Given the description of an element on the screen output the (x, y) to click on. 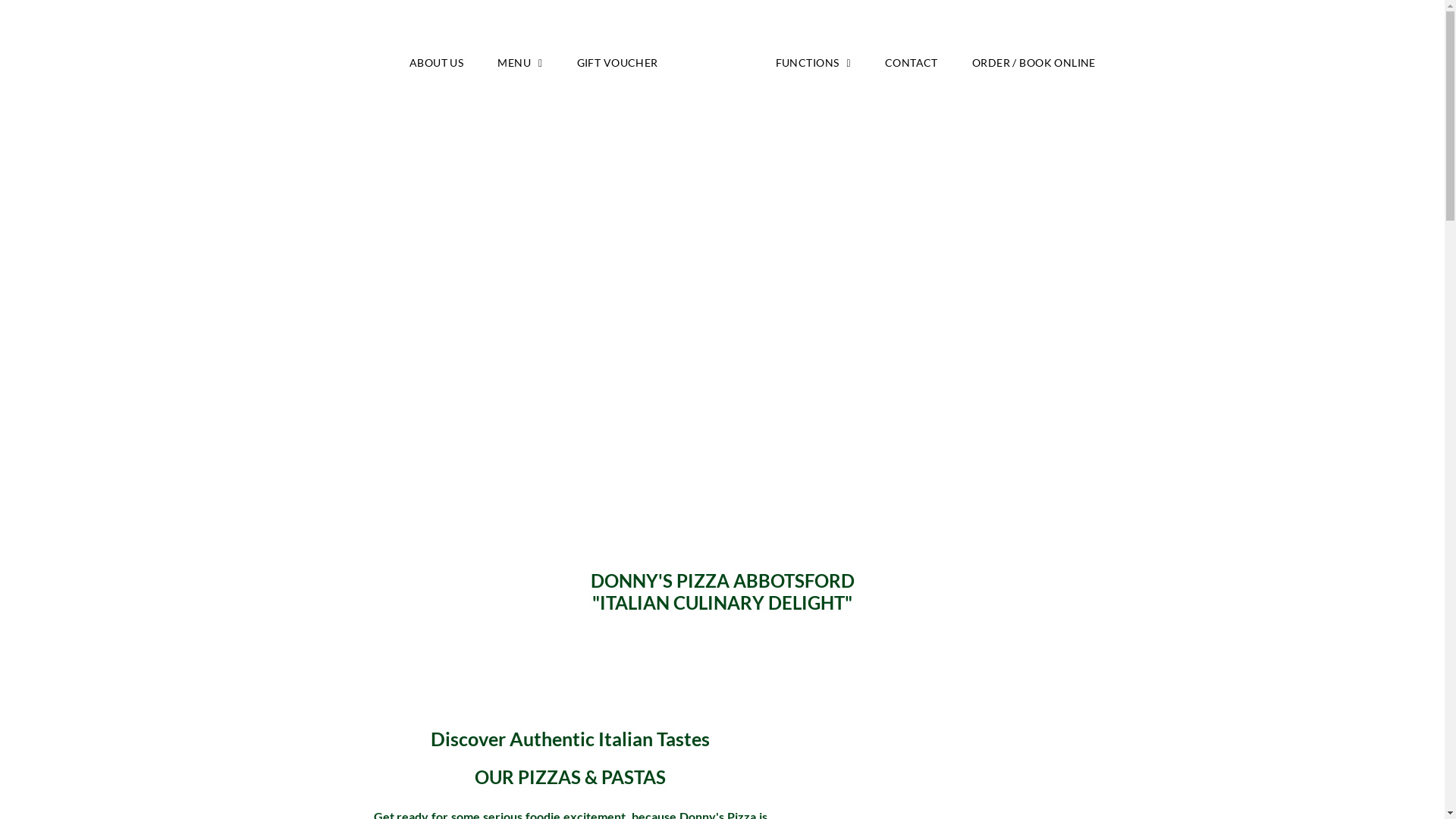
CONTACT Element type: text (911, 62)
ORDER / BOOK ONLINE Element type: text (1033, 62)
FUNCTIONS Element type: text (813, 62)
GIFT VOUCHER Element type: text (617, 62)
ABOUT US Element type: text (436, 62)
MENU Element type: text (519, 62)
